Given the description of an element on the screen output the (x, y) to click on. 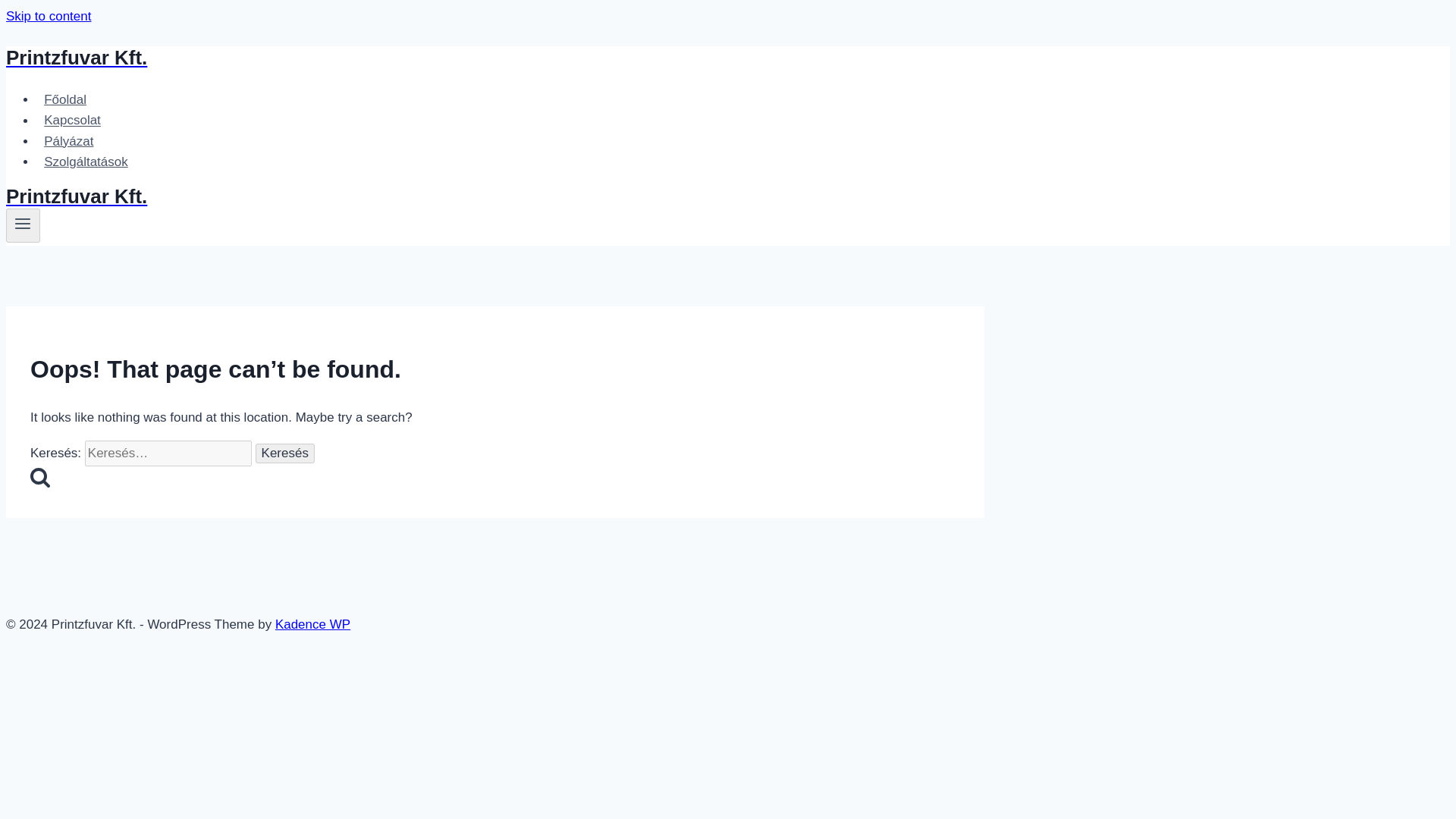
Skip to content (47, 16)
Toggle Menu (22, 224)
Printzfuvar Kft. (494, 57)
Toggle Menu (22, 223)
Search (39, 476)
Printzfuvar Kft. (494, 196)
Kapcsolat (71, 120)
Kadence WP (312, 624)
Skip to content (47, 16)
